Given the description of an element on the screen output the (x, y) to click on. 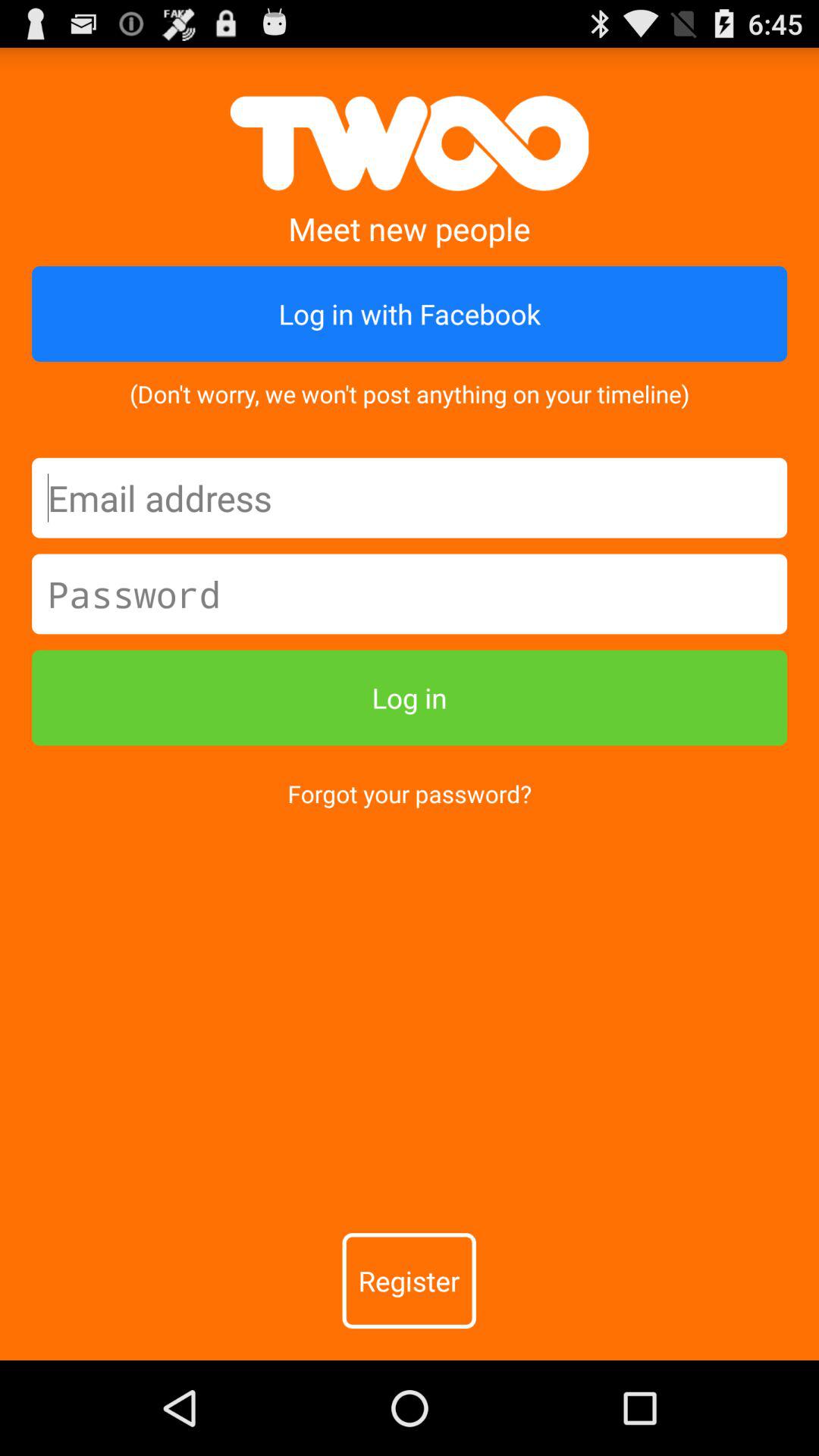
press the app below the forgot your password? app (409, 1280)
